Given the description of an element on the screen output the (x, y) to click on. 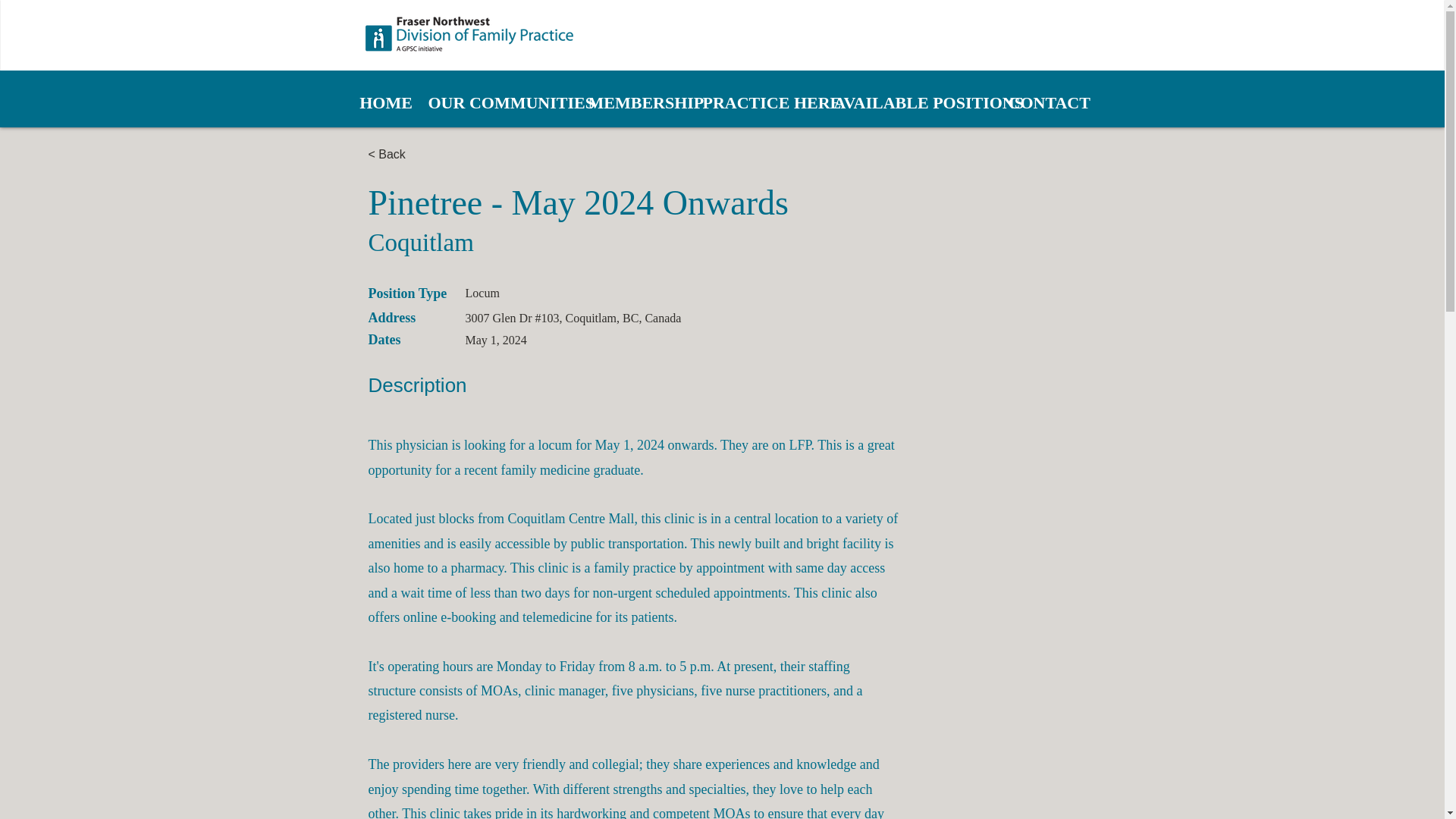
PRACTICE HERE (759, 103)
OUR COMMUNITIES (499, 103)
MEMBERSHIP (637, 103)
AVAILABLE POSITIONS (914, 103)
HOME (386, 103)
CONTACT (1047, 103)
